Given the description of an element on the screen output the (x, y) to click on. 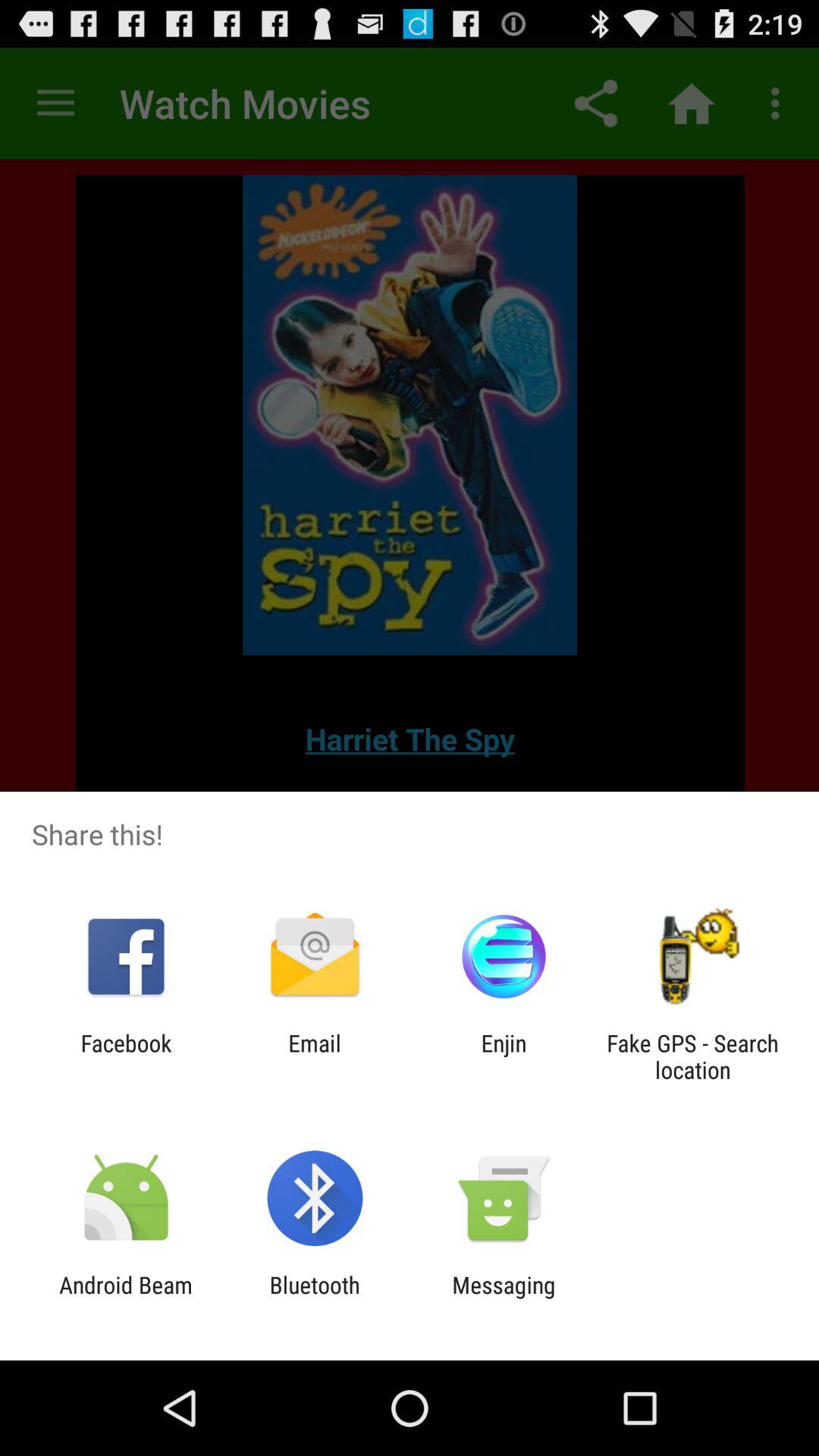
open the email app (314, 1056)
